Given the description of an element on the screen output the (x, y) to click on. 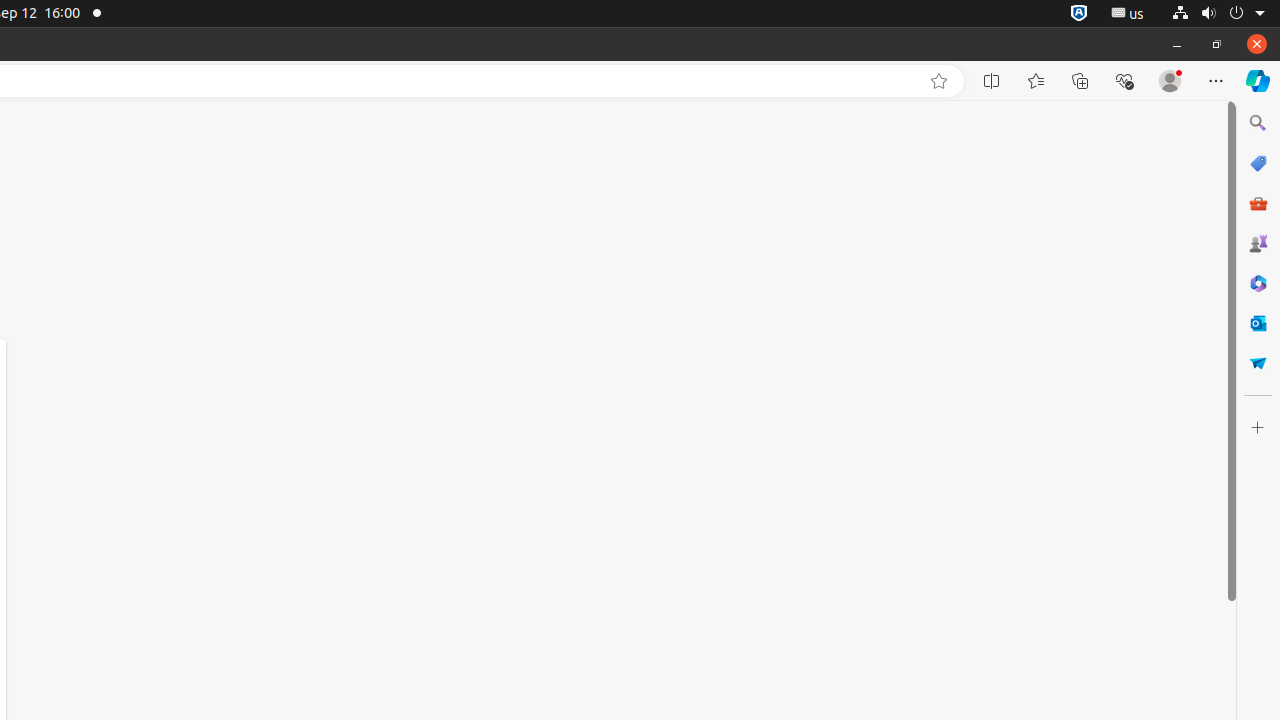
Collections Element type: push-button (1080, 81)
:1.72/StatusNotifierItem Element type: menu (1079, 13)
Split screen Element type: push-button (992, 81)
Favorites Element type: push-button (1036, 81)
Microsoft Shopping Element type: push-button (1258, 163)
